Given the description of an element on the screen output the (x, y) to click on. 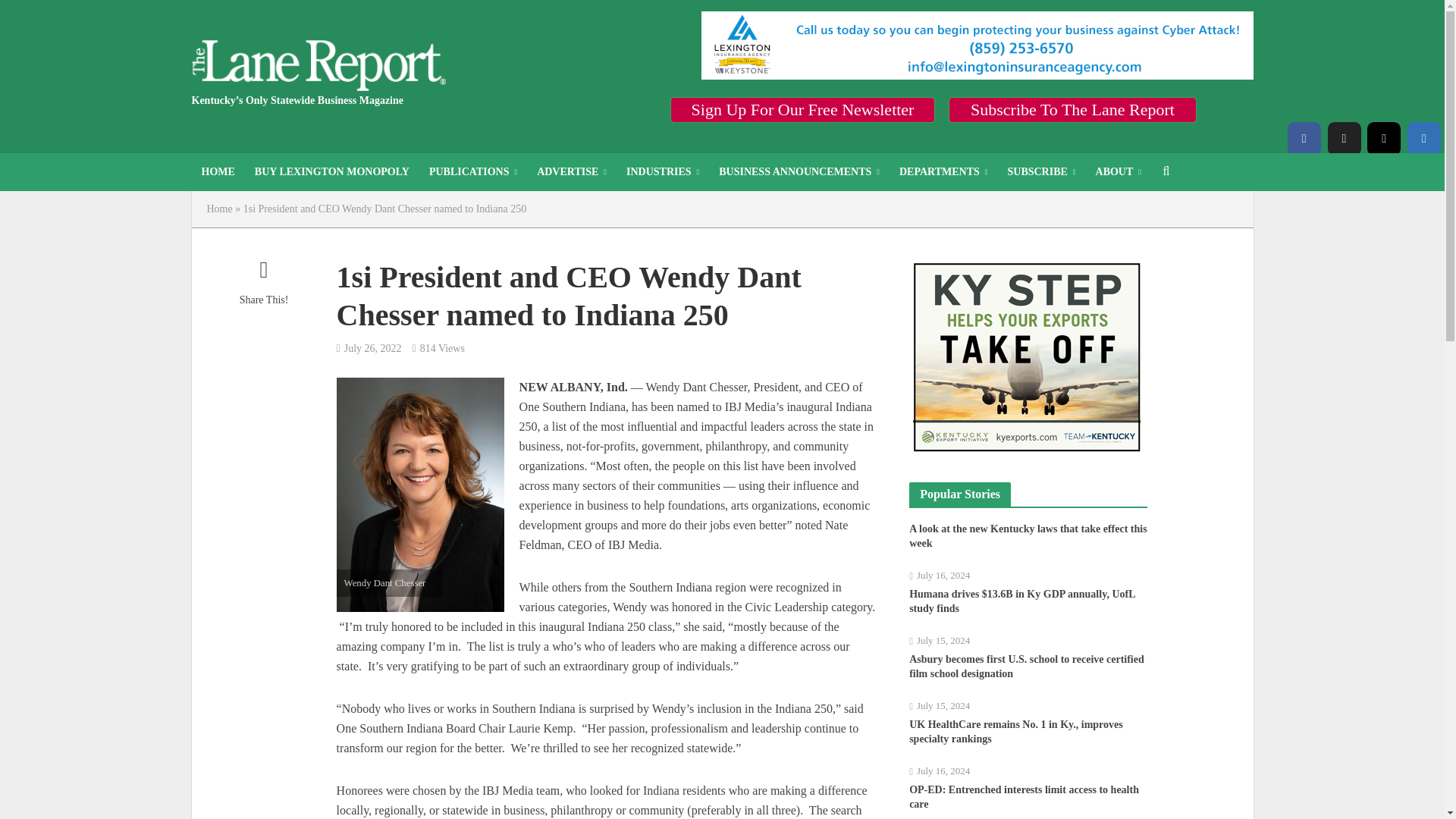
instagram (1383, 138)
linkedin (1424, 138)
Facebook (1303, 138)
Sign Up For Our Free Newsletter (802, 109)
BUY LEXINGTON MONOPOLY (331, 171)
Linkedin (1424, 138)
Instagram (1383, 138)
Subscribe To The Lane Report (1072, 109)
twitter (1342, 138)
INDUSTRIES (662, 171)
Sign up for the Faster Lane business newsletter! (802, 109)
Subscribe To The Lane Report (1072, 109)
facebook (1303, 138)
ADVERTISE (571, 171)
PUBLICATIONS (473, 171)
